Given the description of an element on the screen output the (x, y) to click on. 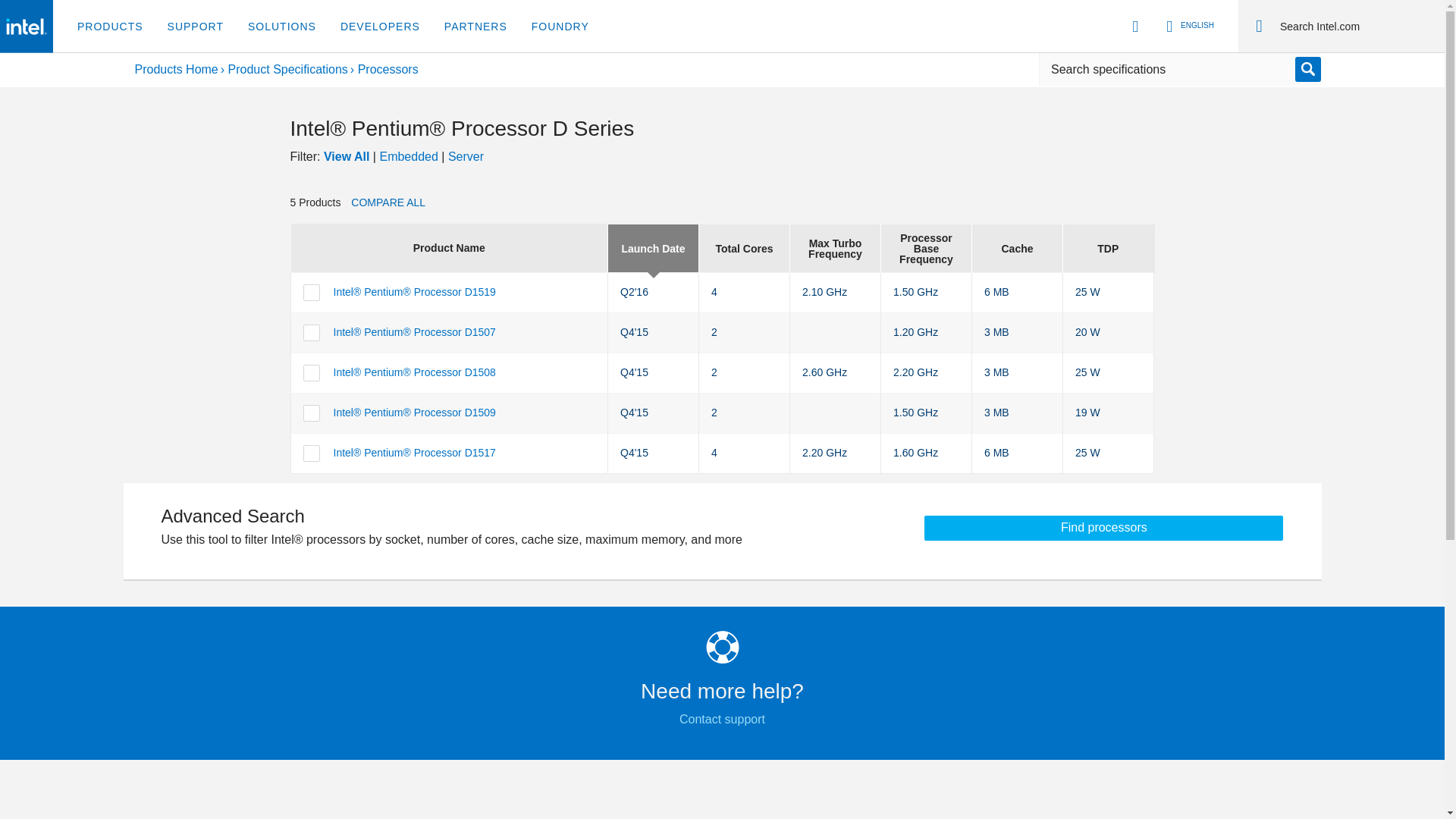
PRODUCTS (110, 26)
Language Selector (1187, 26)
Search (1356, 25)
